Given the description of an element on the screen output the (x, y) to click on. 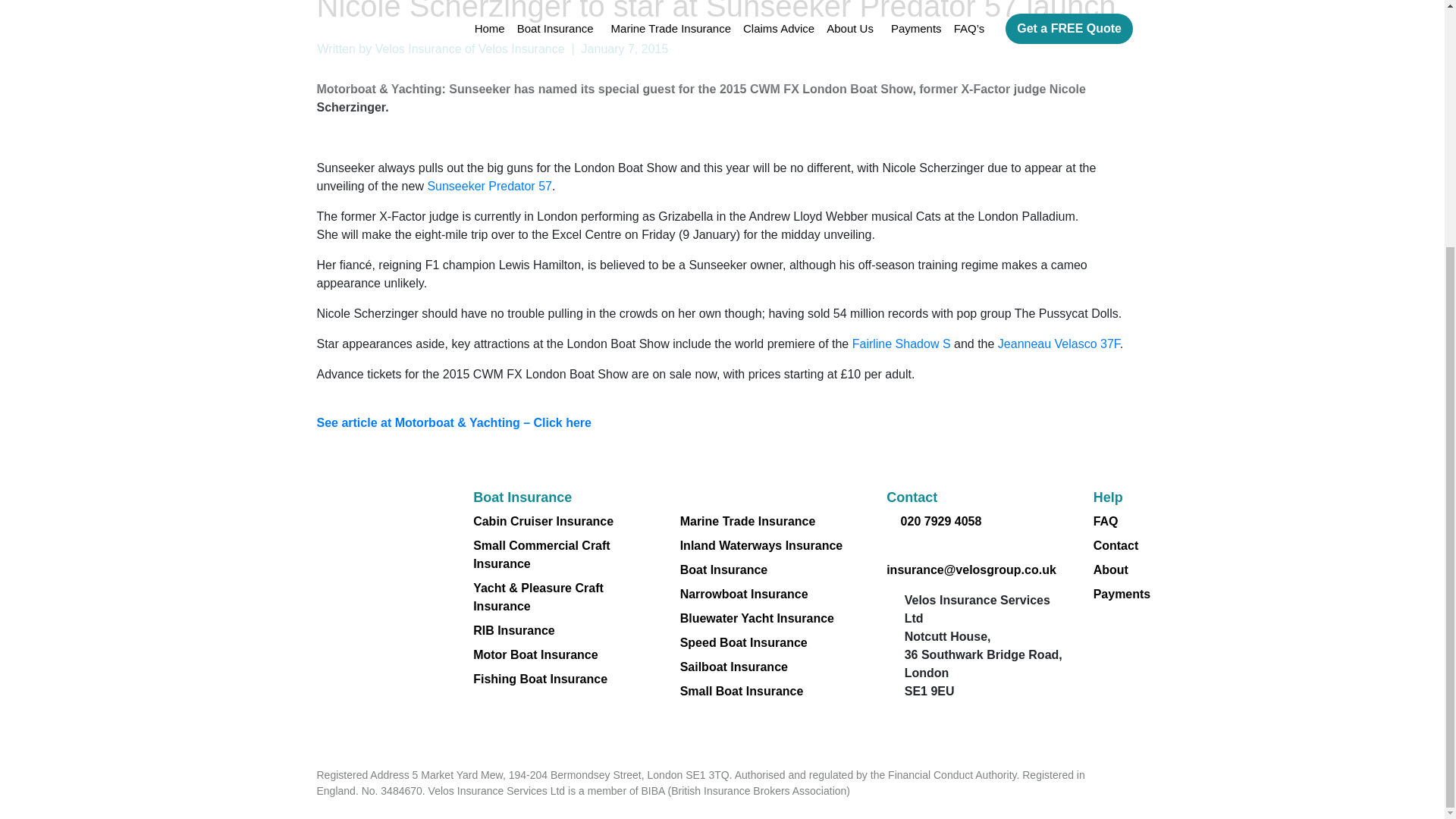
Marine Trade Insurance (747, 521)
Fishing Boat Insurance (540, 678)
Jeanneau Velasco 37F (1058, 343)
Sunseeker Predator 57 (488, 185)
Cabin Cruiser Insurance (542, 521)
RIB Insurance (513, 630)
Fairline Shadow S (900, 343)
Velos Insurance (418, 48)
Motor Boat Insurance (534, 654)
Small Commercial Craft Insurance (541, 554)
